Given the description of an element on the screen output the (x, y) to click on. 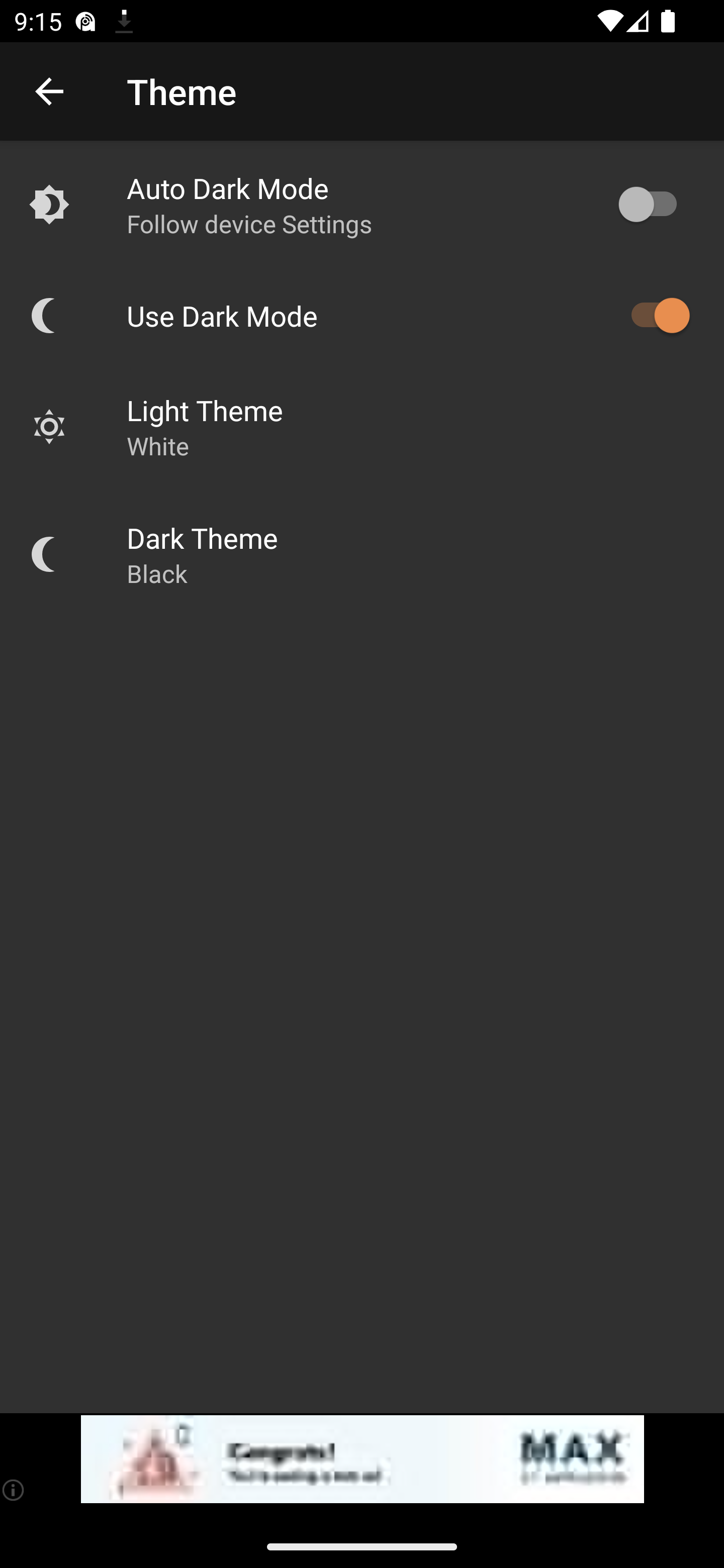
Navigate up (49, 91)
Auto Dark Mode Follow device Settings (362, 204)
Use Dark Mode (362, 315)
Light Theme White (362, 426)
Dark Theme Black (362, 553)
app-monetization (362, 1459)
(i) (14, 1489)
